Given the description of an element on the screen output the (x, y) to click on. 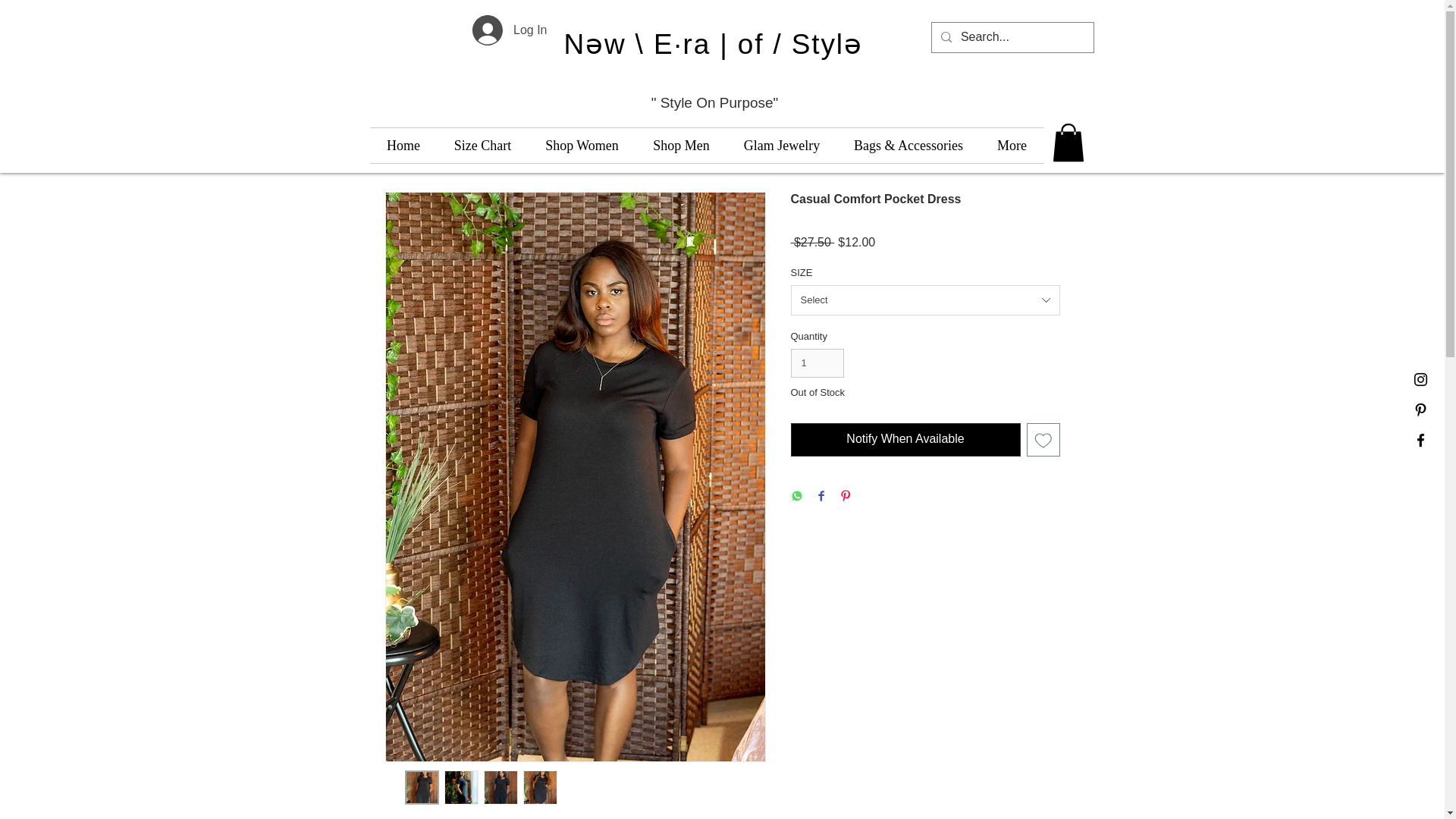
Size Chart (481, 144)
Shop Women (580, 144)
Log In (509, 29)
Glam Jewelry (780, 144)
" Style On Purpose" (714, 102)
Shop Men (680, 144)
Home (403, 144)
1 (817, 362)
